Given the description of an element on the screen output the (x, y) to click on. 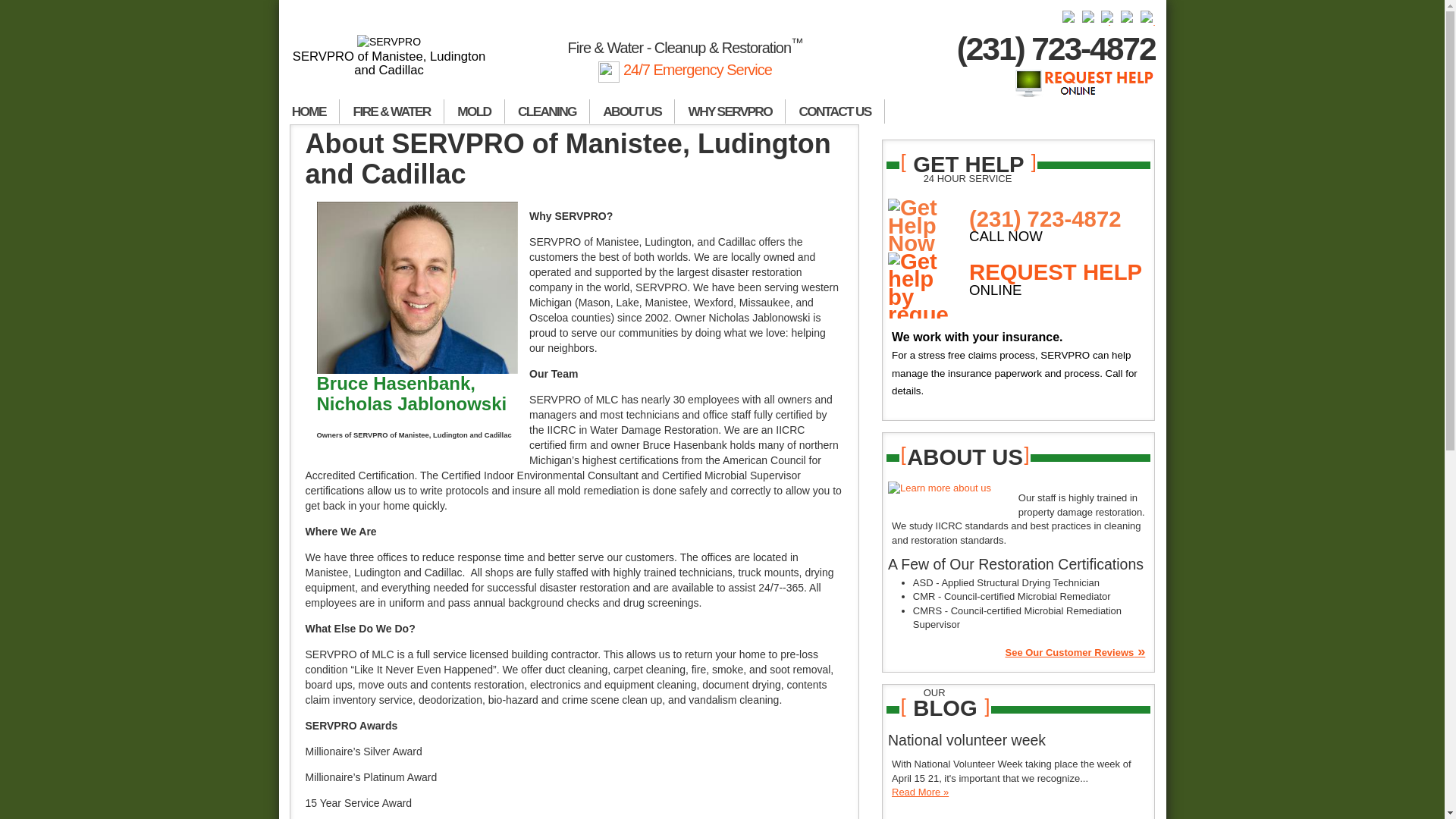
ABOUT US (632, 111)
CLEANING (547, 111)
SERVPRO of Manistee, Ludington and Cadillac (389, 55)
HOME (309, 111)
MOLD (474, 111)
